Given the description of an element on the screen output the (x, y) to click on. 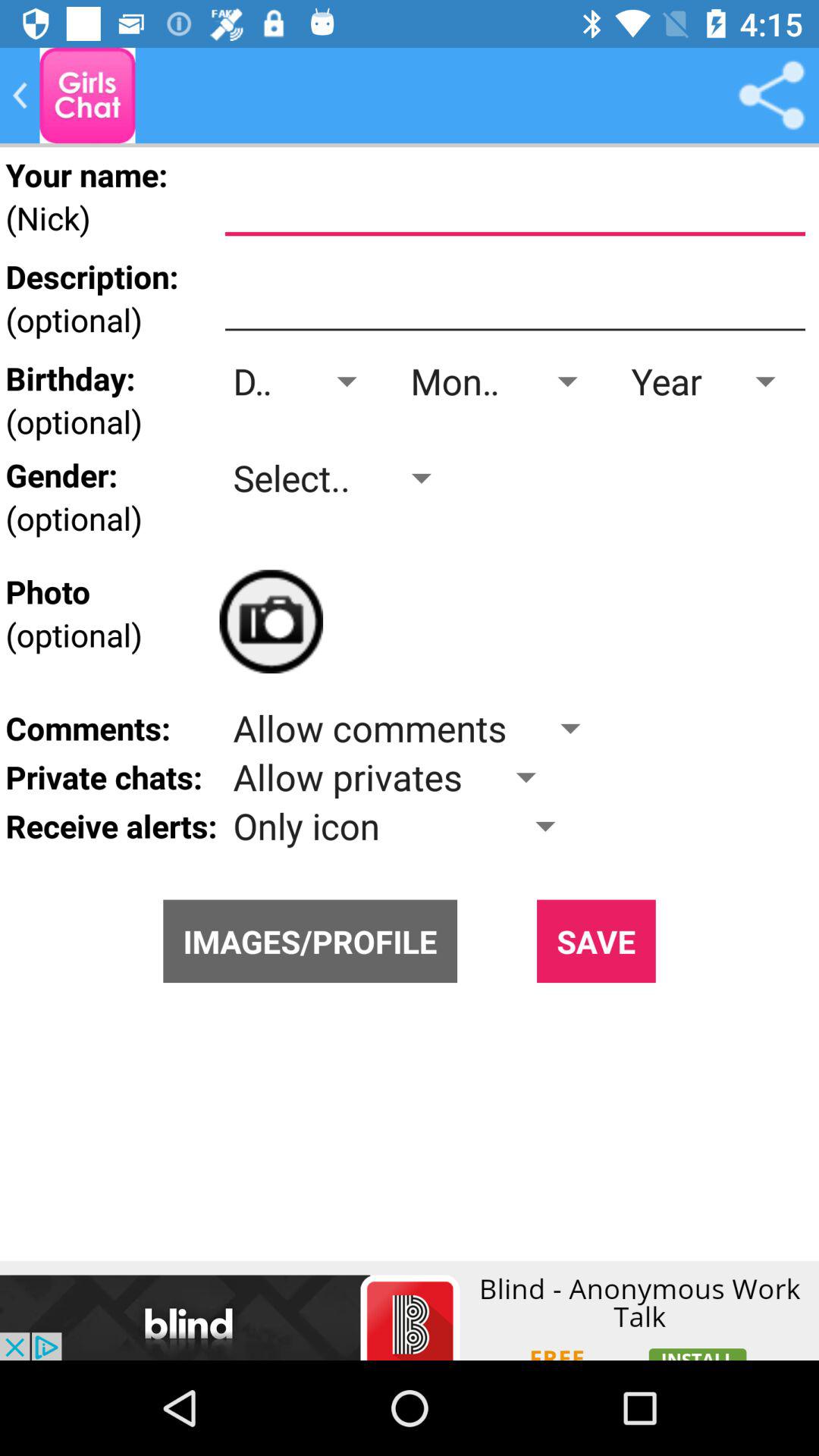
come back (19, 95)
